Given the description of an element on the screen output the (x, y) to click on. 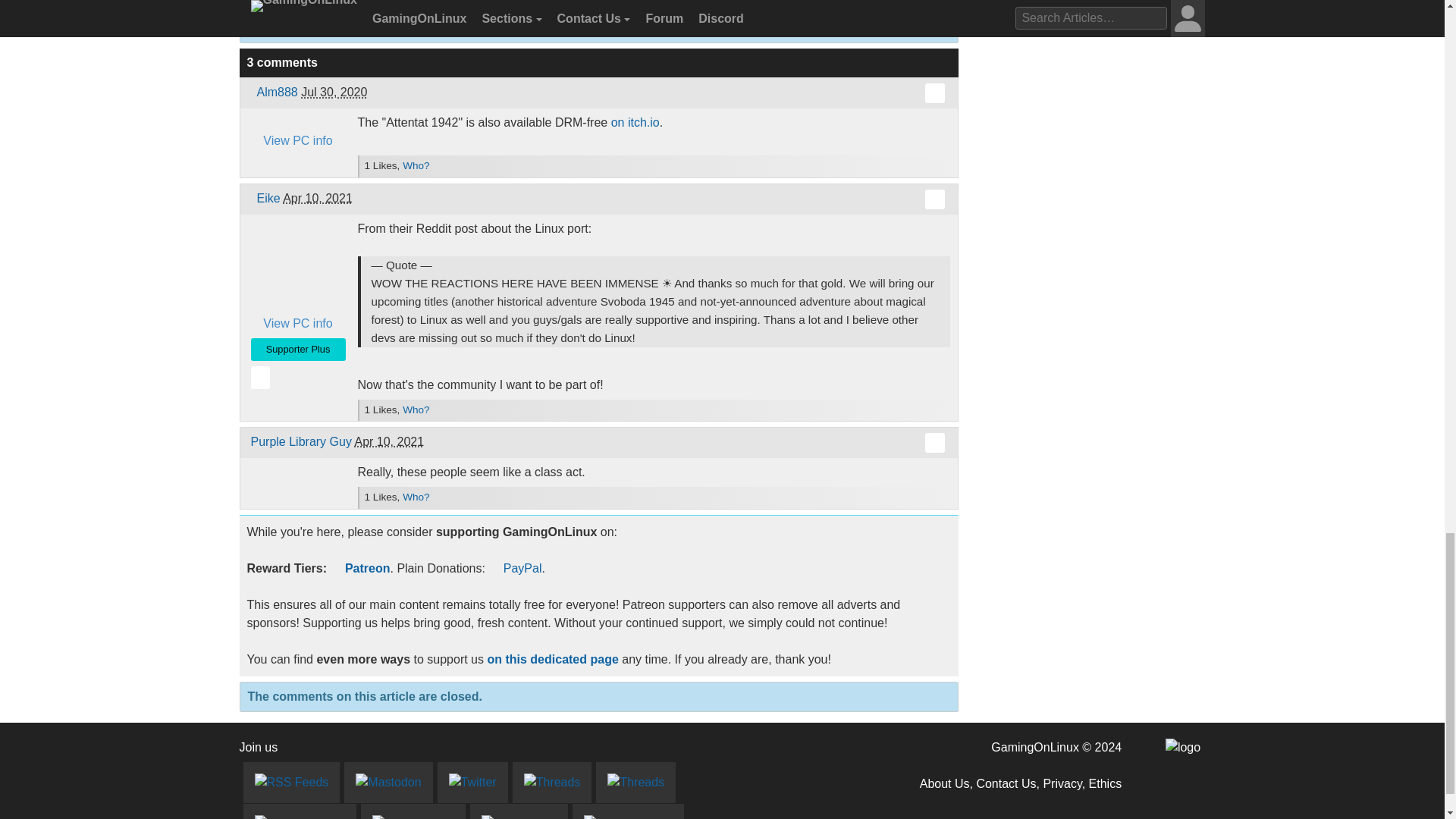
RSS Feeds (291, 782)
Mastodon (387, 782)
Bluesky (635, 782)
Link to this comment (934, 93)
Link to this comment (934, 442)
Twitter (473, 782)
Link to this comment (934, 199)
Threads (552, 782)
